Given the description of an element on the screen output the (x, y) to click on. 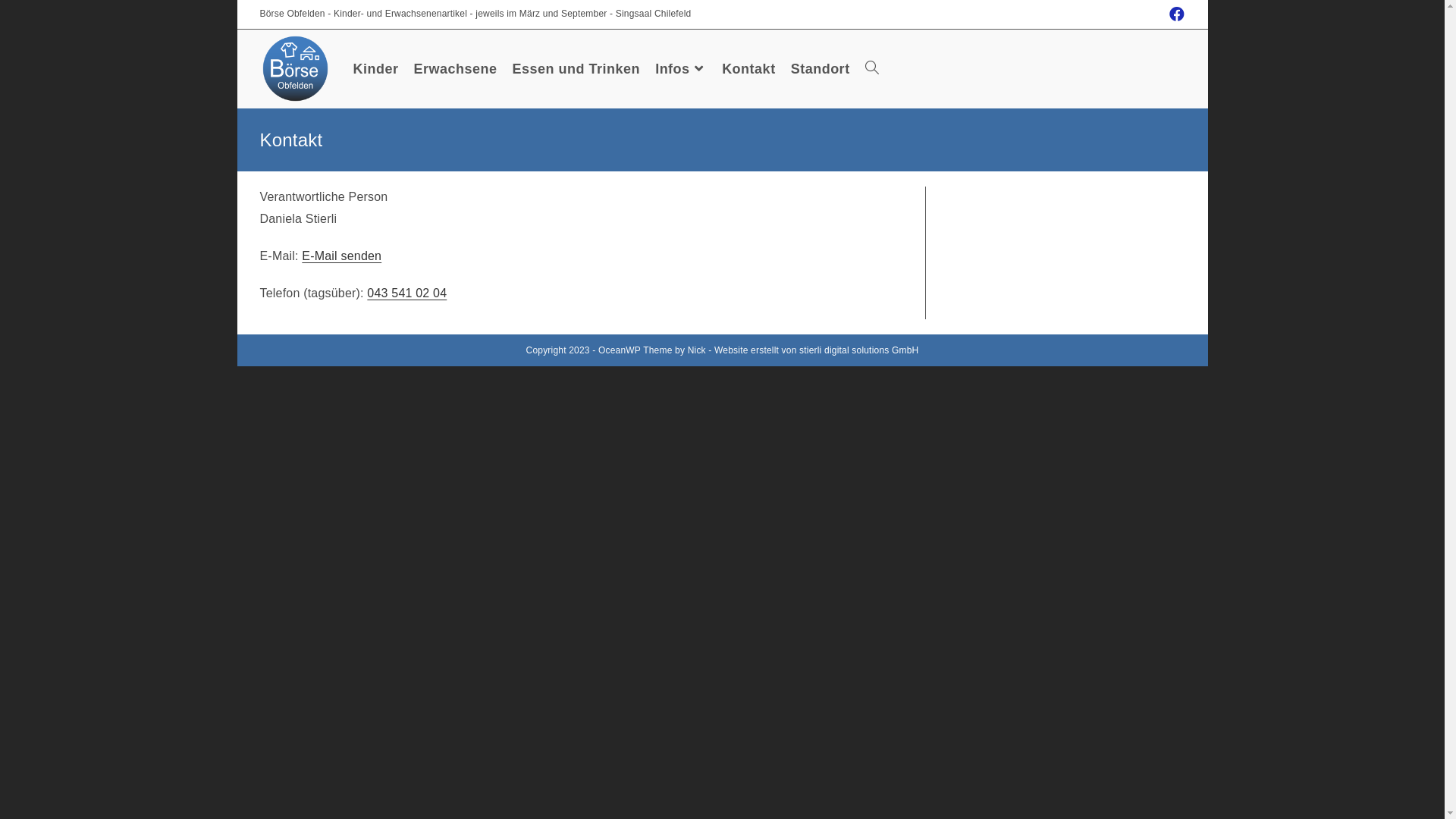
E-Mail senden Element type: text (341, 255)
stierli digital solutions GmbH Element type: text (858, 350)
Toggle website search Element type: text (871, 68)
Erwachsene Element type: text (455, 68)
Essen und Trinken Element type: text (576, 68)
Kontakt Element type: text (748, 68)
Infos Element type: text (680, 68)
Standort Element type: text (820, 68)
Kinder Element type: text (375, 68)
043 541 02 04 Element type: text (406, 292)
